Given the description of an element on the screen output the (x, y) to click on. 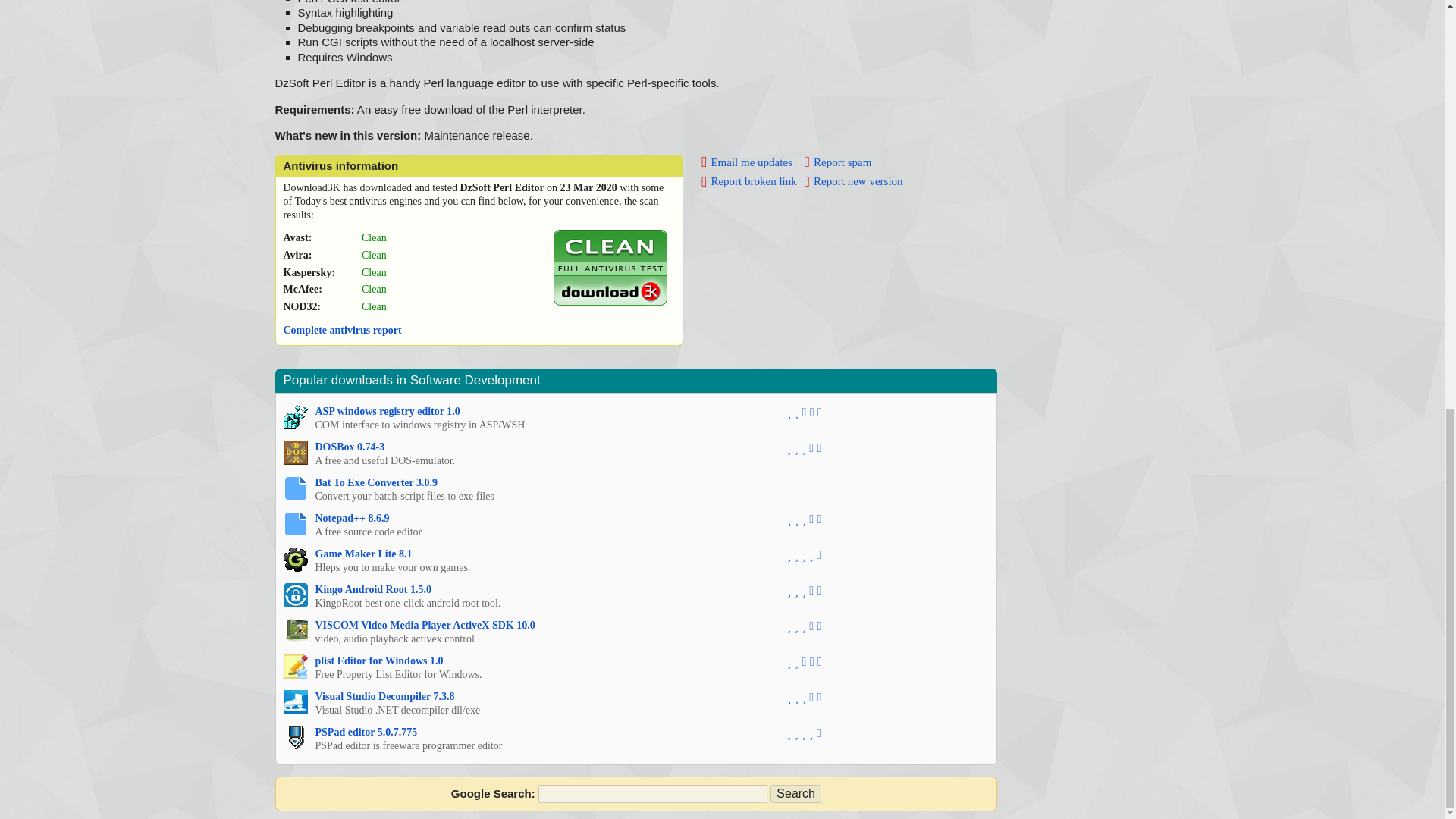
Report new version (853, 181)
DOSBox 0.74-3 - A free and useful DOS-emulator. (295, 452)
Visual Studio Decompiler 7.3.8 (384, 696)
Email me updates (746, 162)
Search (795, 793)
ASP windows registry editor 1.0 (387, 410)
Search (795, 793)
Game Maker Lite 8.1 (363, 553)
Report broken link (748, 181)
